Given the description of an element on the screen output the (x, y) to click on. 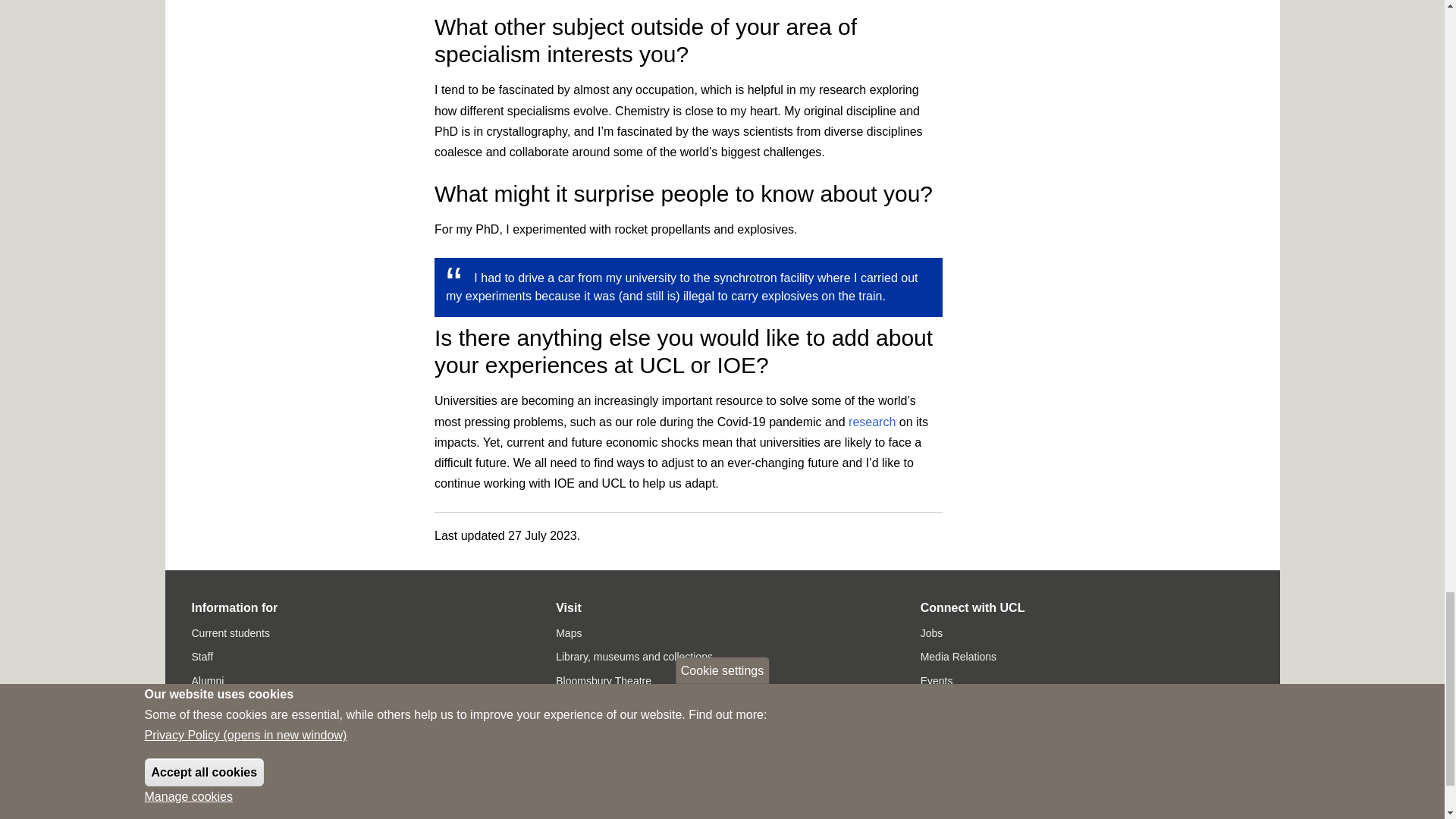
research (871, 421)
Current students (229, 633)
